Given the description of an element on the screen output the (x, y) to click on. 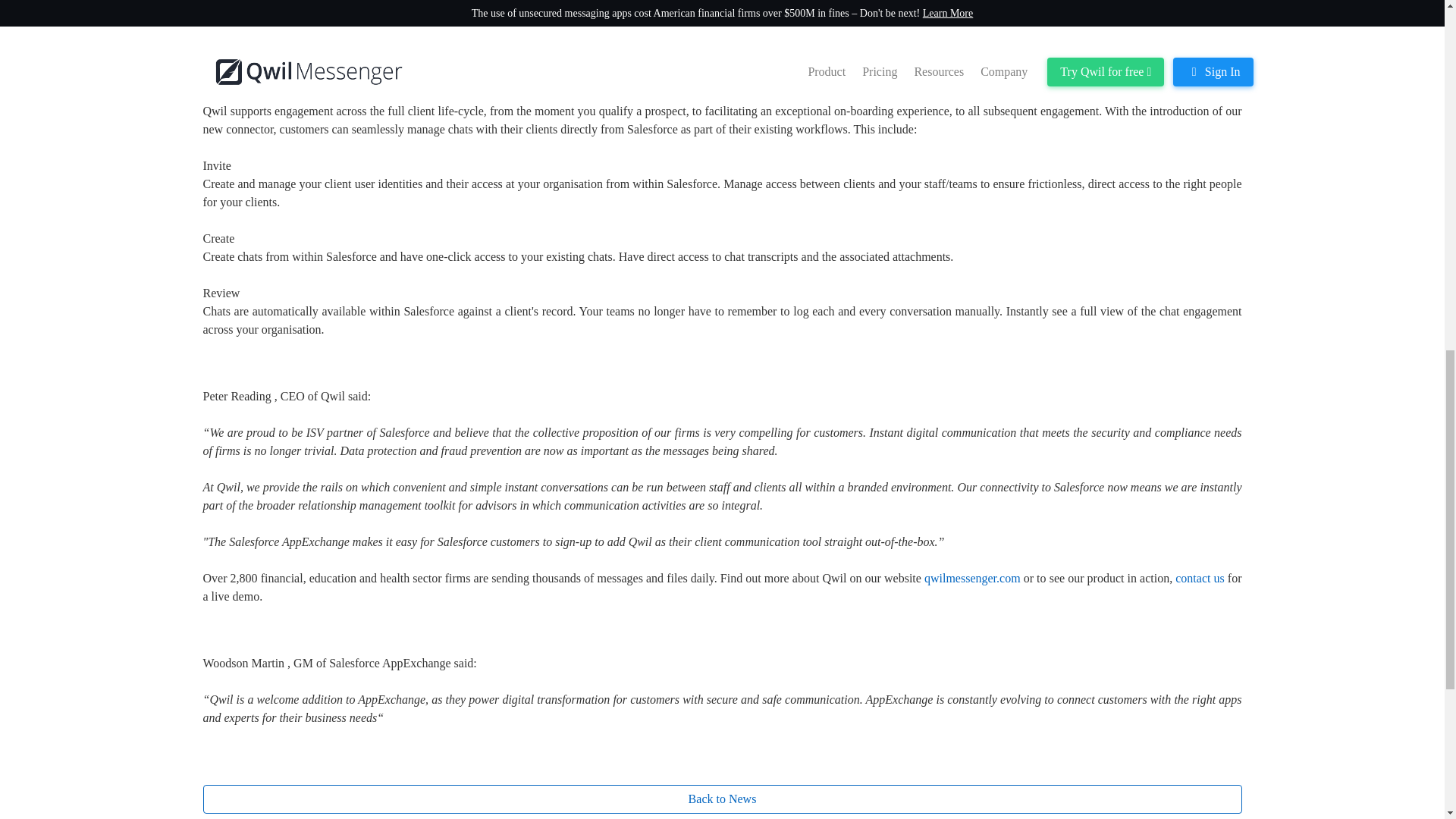
qwilmessenger.com (973, 577)
contact us (1200, 577)
Back to News (722, 799)
